Given the description of an element on the screen output the (x, y) to click on. 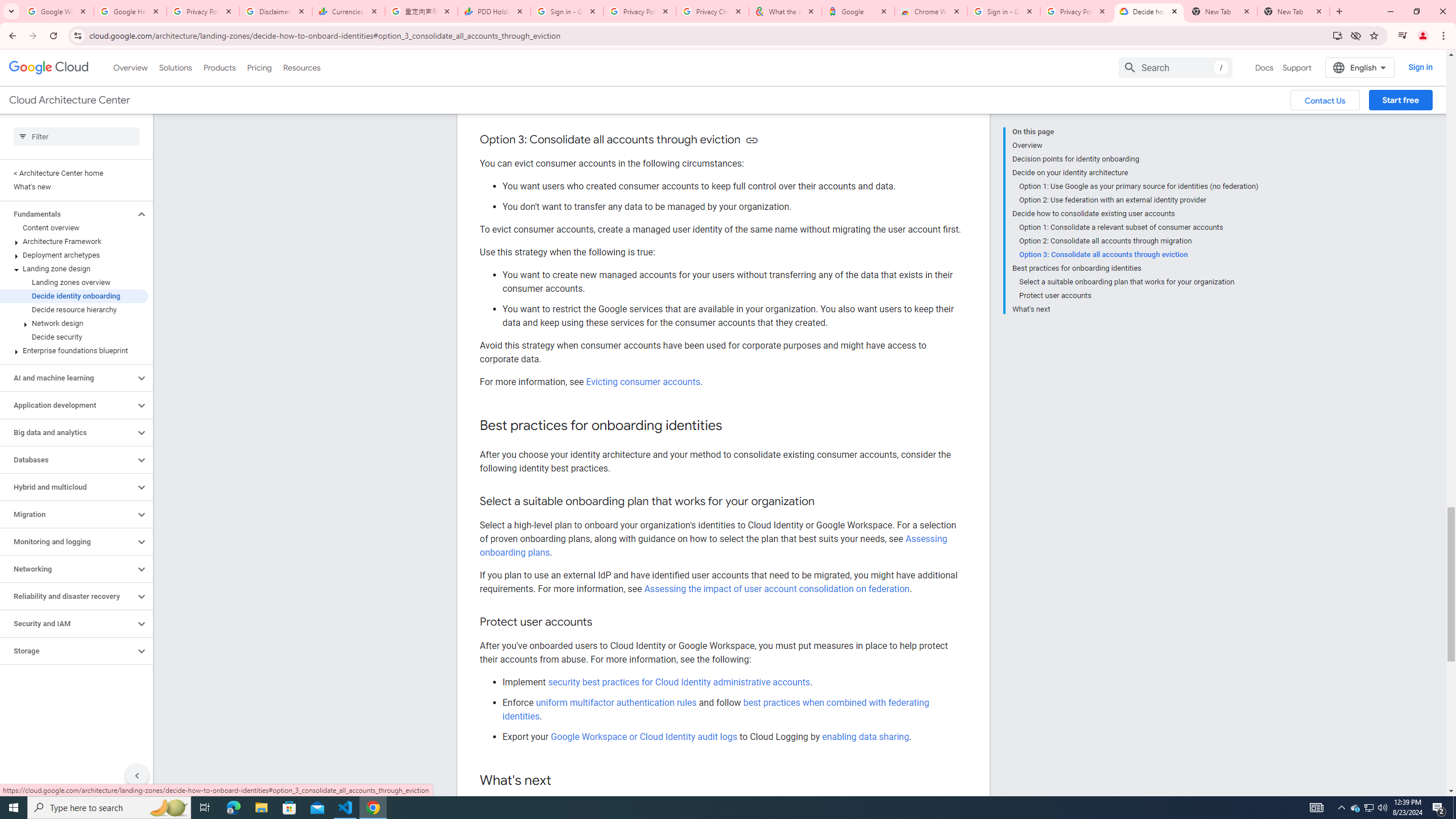
Sign in - Google Accounts (566, 11)
Docs, selected (1264, 67)
New Tab (1293, 11)
enabling data sharing (865, 736)
Chrome Web Store - Color themes by Chrome (930, 11)
Monitoring and logging (67, 541)
Decide how to consolidate existing user accounts (1134, 213)
